Given the description of an element on the screen output the (x, y) to click on. 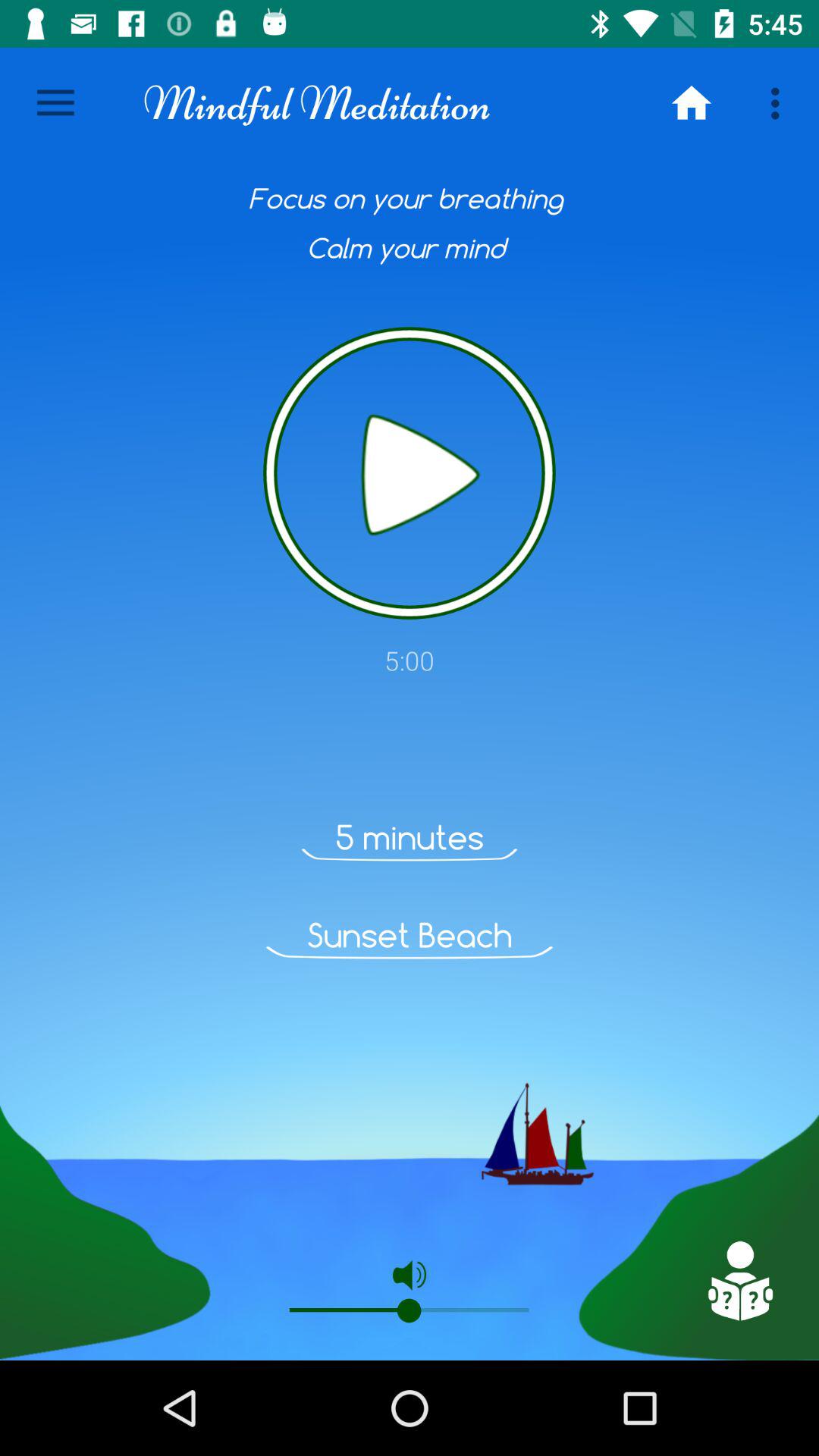
tap item above 5:00 item (409, 472)
